Given the description of an element on the screen output the (x, y) to click on. 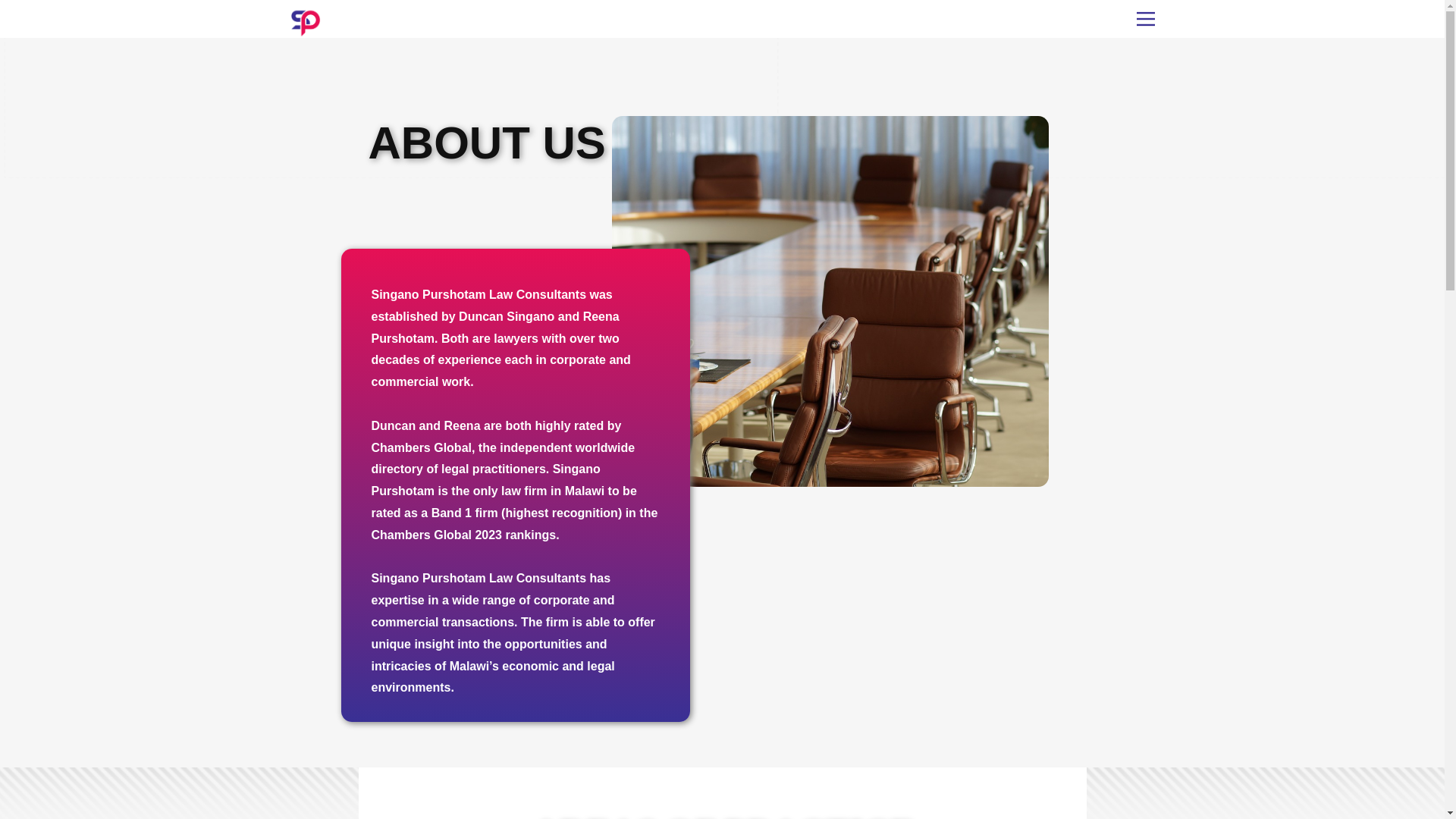
SPLaw.mw (304, 22)
